Given the description of an element on the screen output the (x, y) to click on. 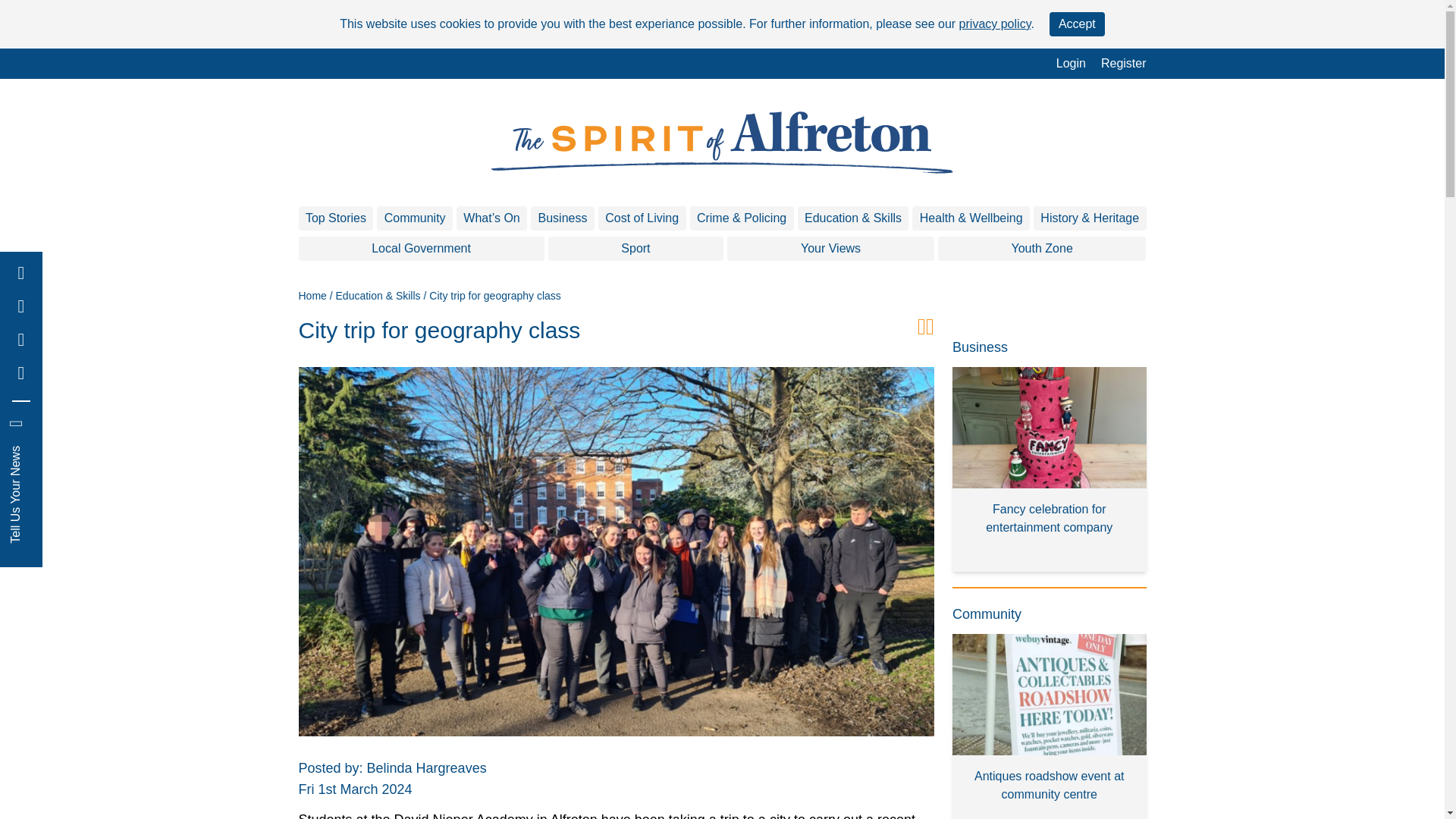
Login (1071, 63)
Top Stories (336, 218)
Sport (635, 248)
Home (312, 295)
Your Views (830, 248)
Youth Zone (1042, 248)
Community (414, 218)
Antiques roadshow event at community centre (1049, 726)
Local Government (421, 248)
Accept (1077, 24)
Fancy celebration for entertainment company (1049, 468)
The Spirit of Alfreton (721, 142)
Business (562, 218)
privacy policy (994, 23)
Register (1123, 63)
